Given the description of an element on the screen output the (x, y) to click on. 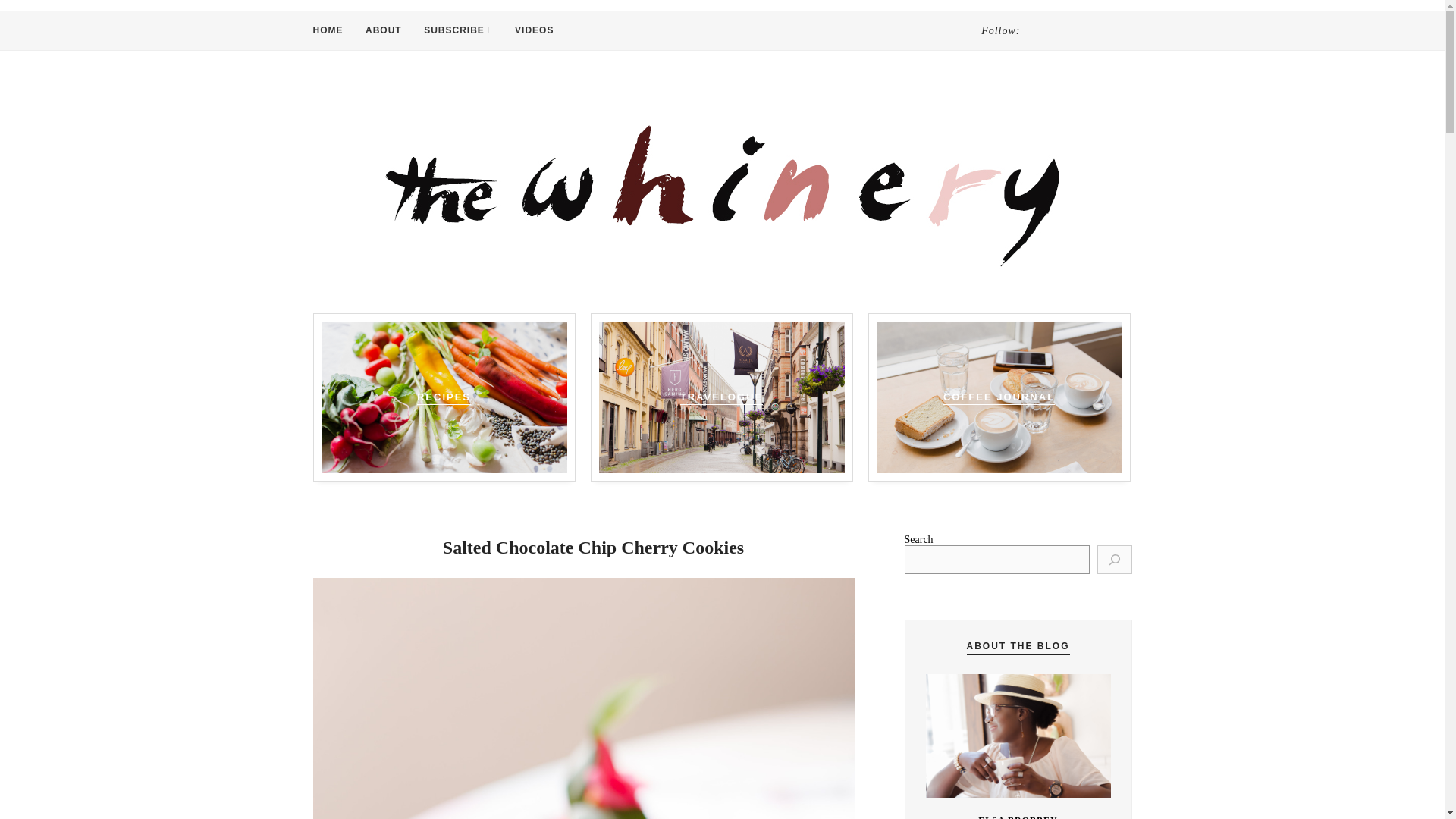
RECIPES (443, 397)
HOME (327, 29)
SUBSCRIBE (457, 29)
COFFEE JOURNAL (998, 397)
TRAVELOGUE (720, 397)
ABOUT (383, 29)
VIDEOS (534, 29)
